Given the description of an element on the screen output the (x, y) to click on. 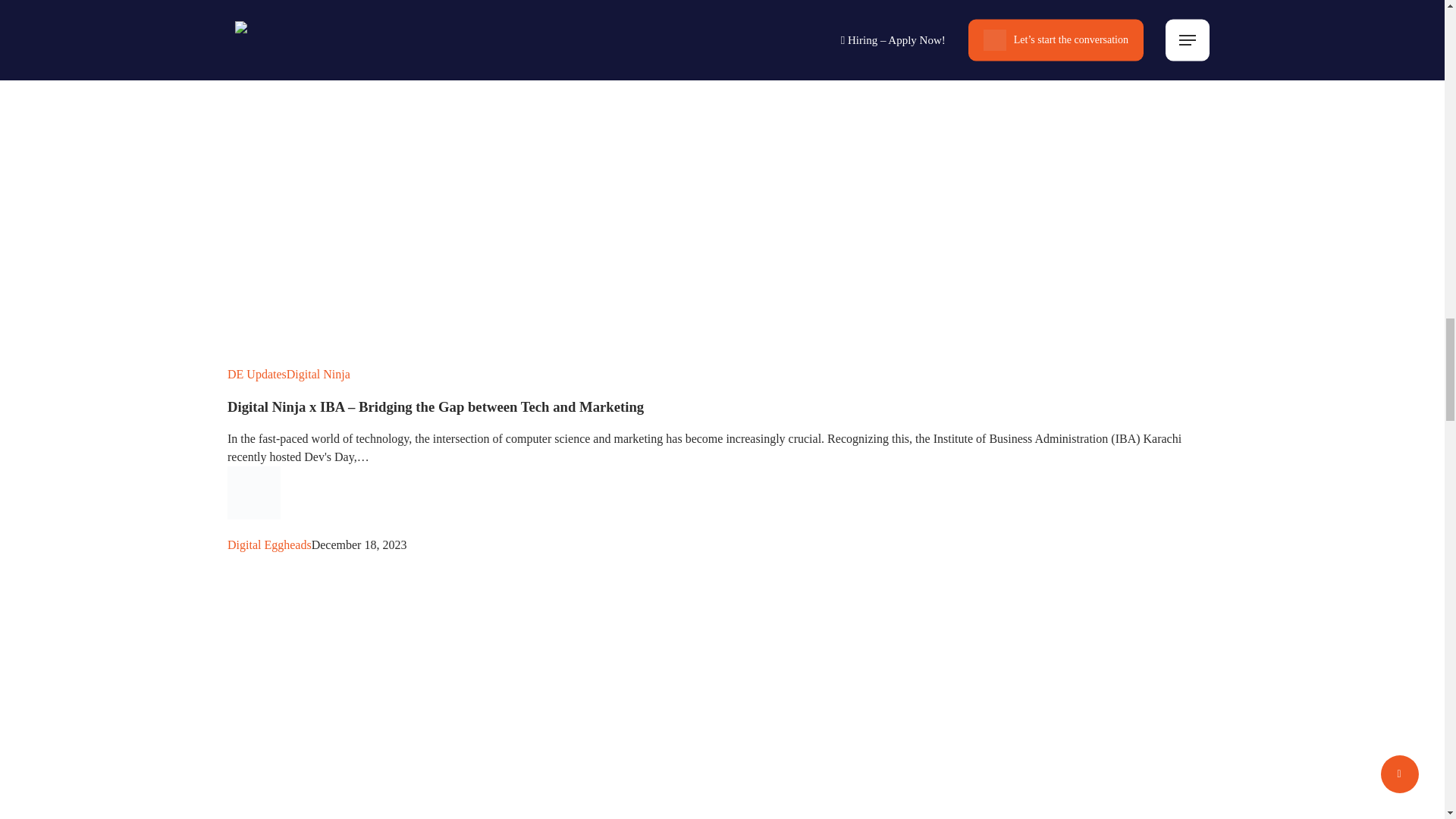
Digital Ninja (318, 373)
Digital Eggheads (269, 544)
DE Updates (256, 373)
